Given the description of an element on the screen output the (x, y) to click on. 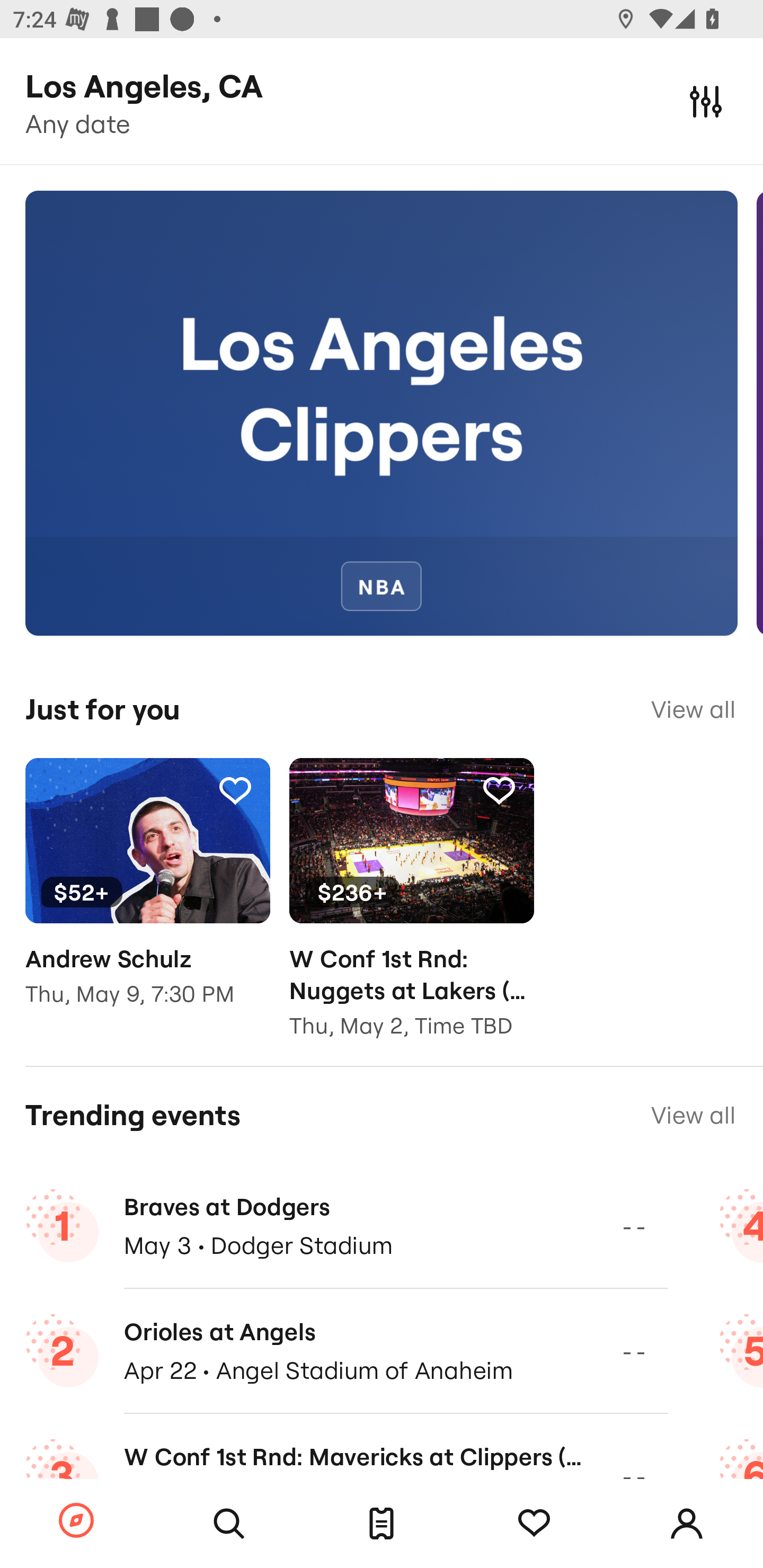
Filters (705, 100)
View all (693, 709)
Tracking $52+ Andrew Schulz Thu, May 9, 7:30 PM (147, 895)
Tracking (234, 790)
Tracking (498, 790)
View all (693, 1114)
Browse (76, 1521)
Search (228, 1523)
Tickets (381, 1523)
Tracking (533, 1523)
Account (686, 1523)
